Given the description of an element on the screen output the (x, y) to click on. 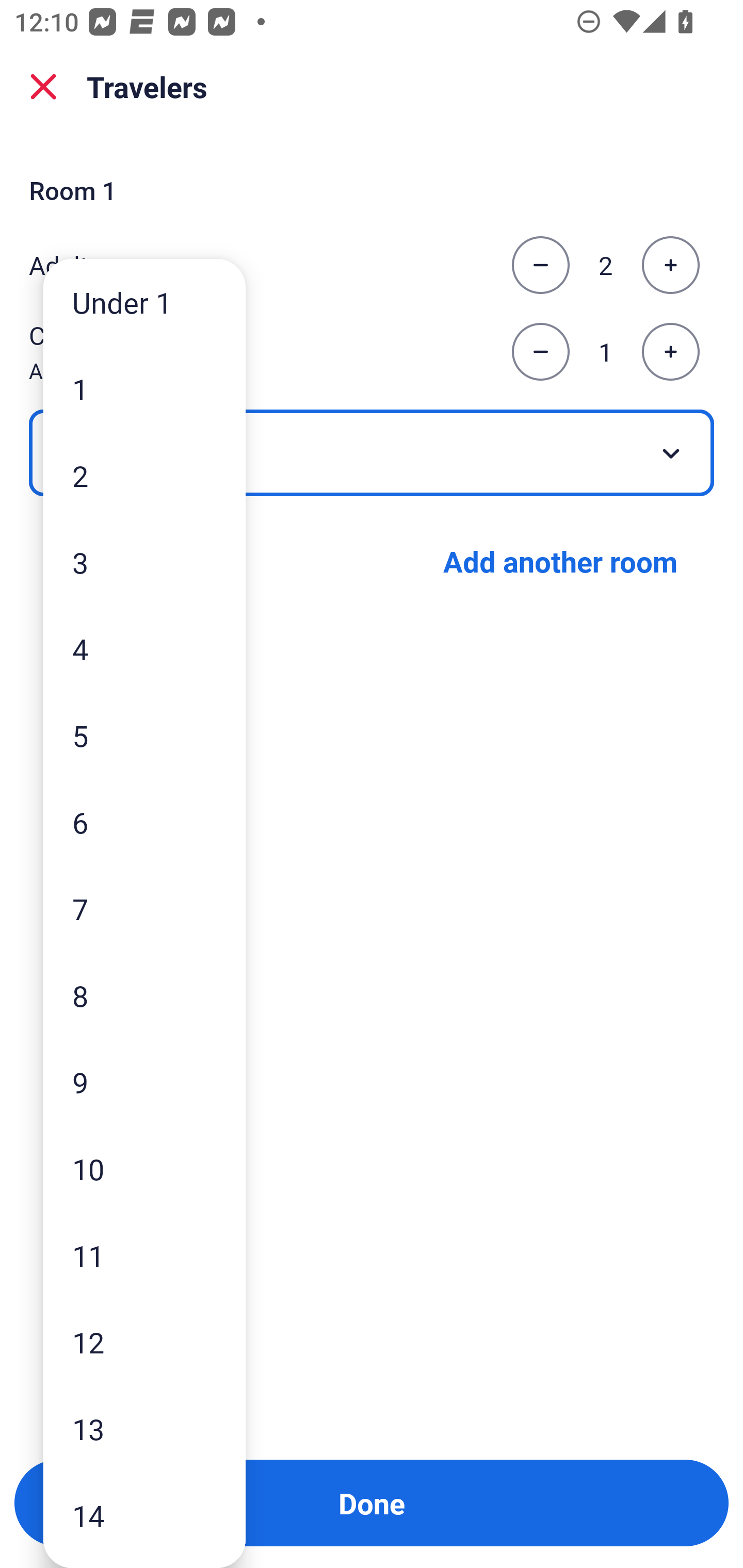
Under 1 (144, 301)
1 (144, 388)
2 (144, 475)
3 (144, 562)
4 (144, 648)
5 (144, 735)
6 (144, 822)
7 (144, 908)
8 (144, 994)
9 (144, 1081)
10 (144, 1168)
11 (144, 1255)
12 (144, 1342)
13 (144, 1429)
14 (144, 1515)
